Given the description of an element on the screen output the (x, y) to click on. 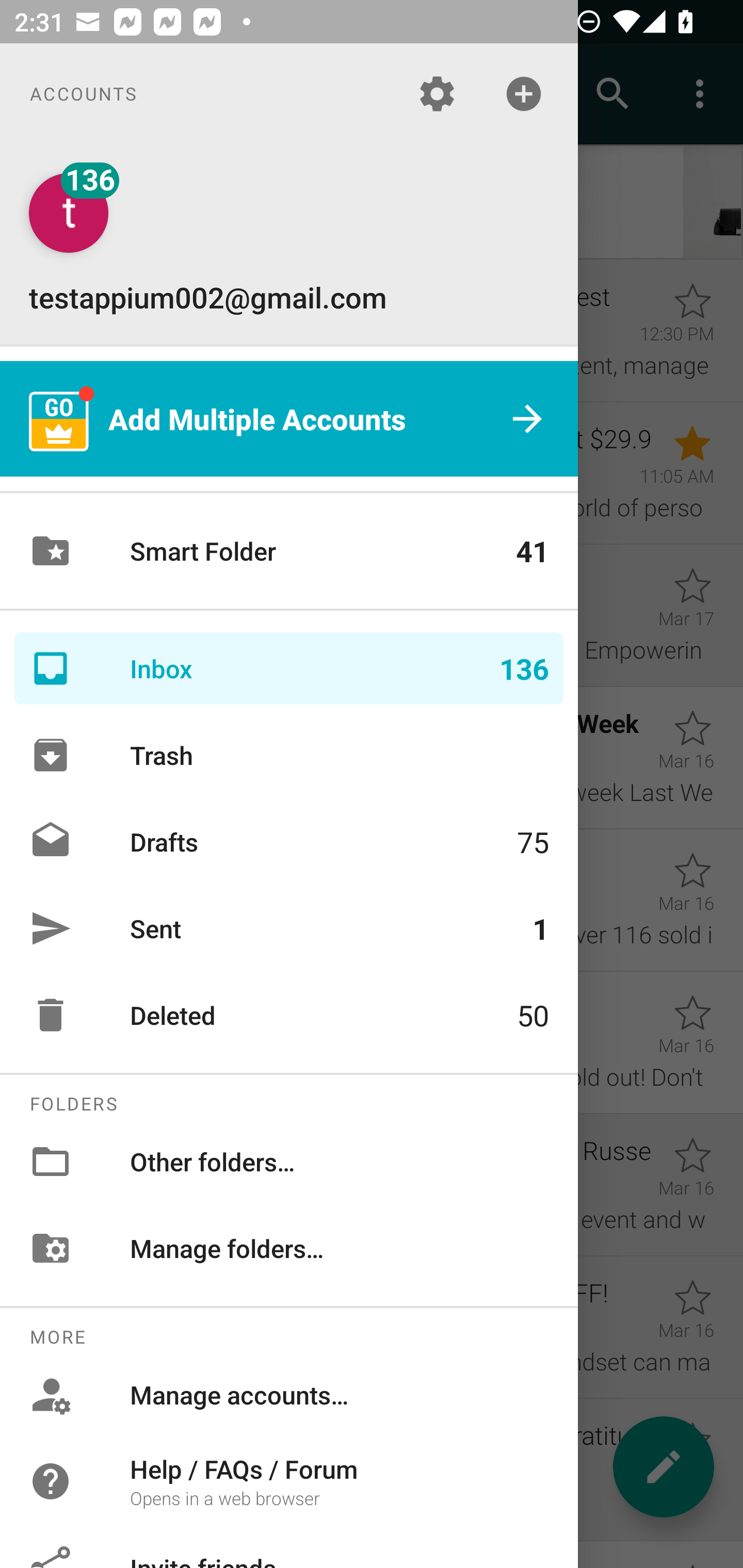
testappium002@gmail.com (289, 244)
Add Multiple Accounts (289, 418)
Smart Folder 41 (289, 551)
Inbox 136 (289, 668)
Trash (289, 754)
Drafts 75 (289, 841)
Sent 1 (289, 928)
Deleted 50 (289, 1015)
Other folders… (289, 1160)
Manage folders… (289, 1248)
Manage accounts… (289, 1394)
Help / FAQs / Forum Opens in a web browser (289, 1480)
